Given the description of an element on the screen output the (x, y) to click on. 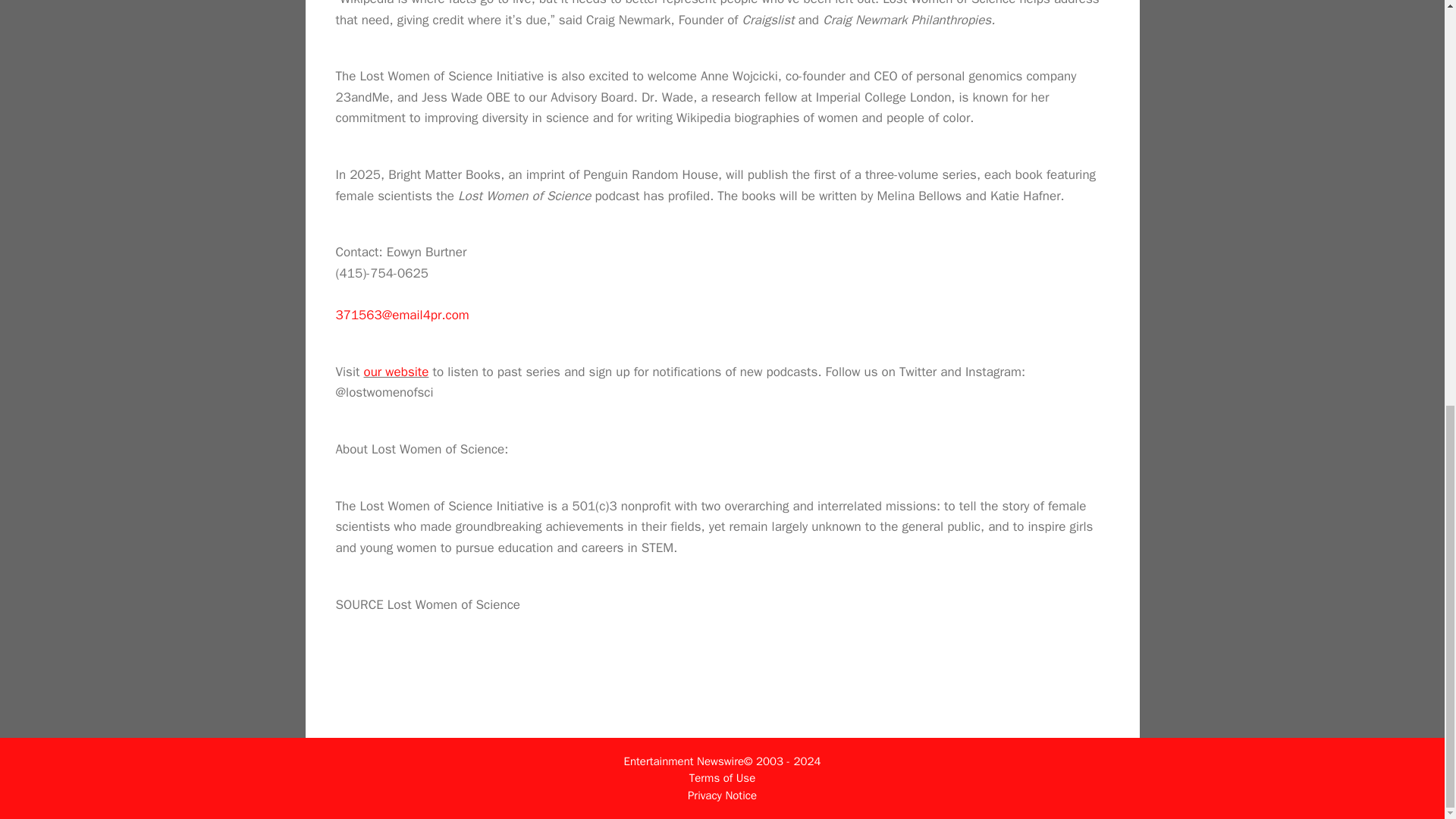
our website (396, 371)
Privacy Notice (722, 795)
Terms of Use (721, 777)
